Given the description of an element on the screen output the (x, y) to click on. 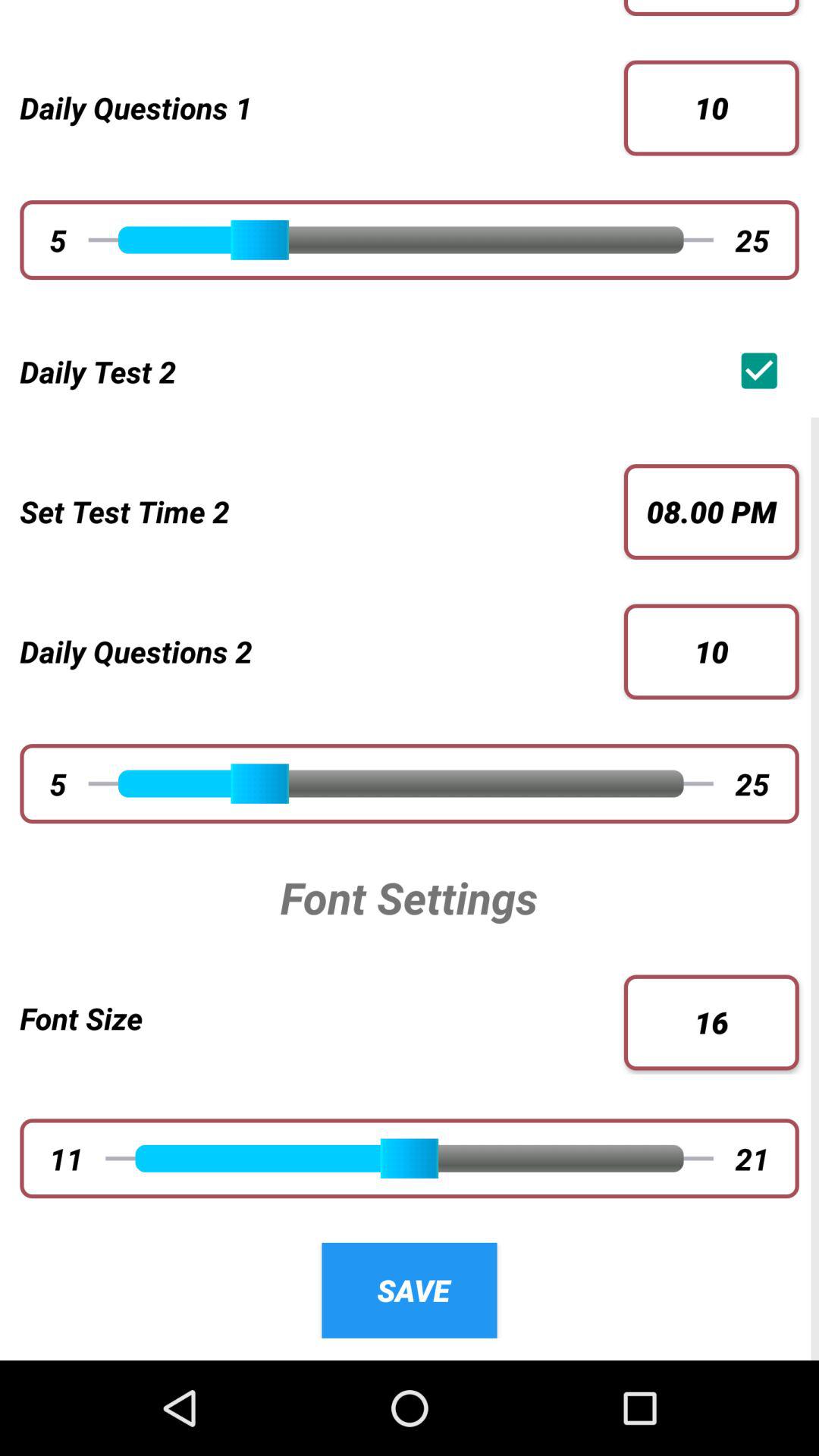
turn off the app below the font settings (321, 1018)
